Given the description of an element on the screen output the (x, y) to click on. 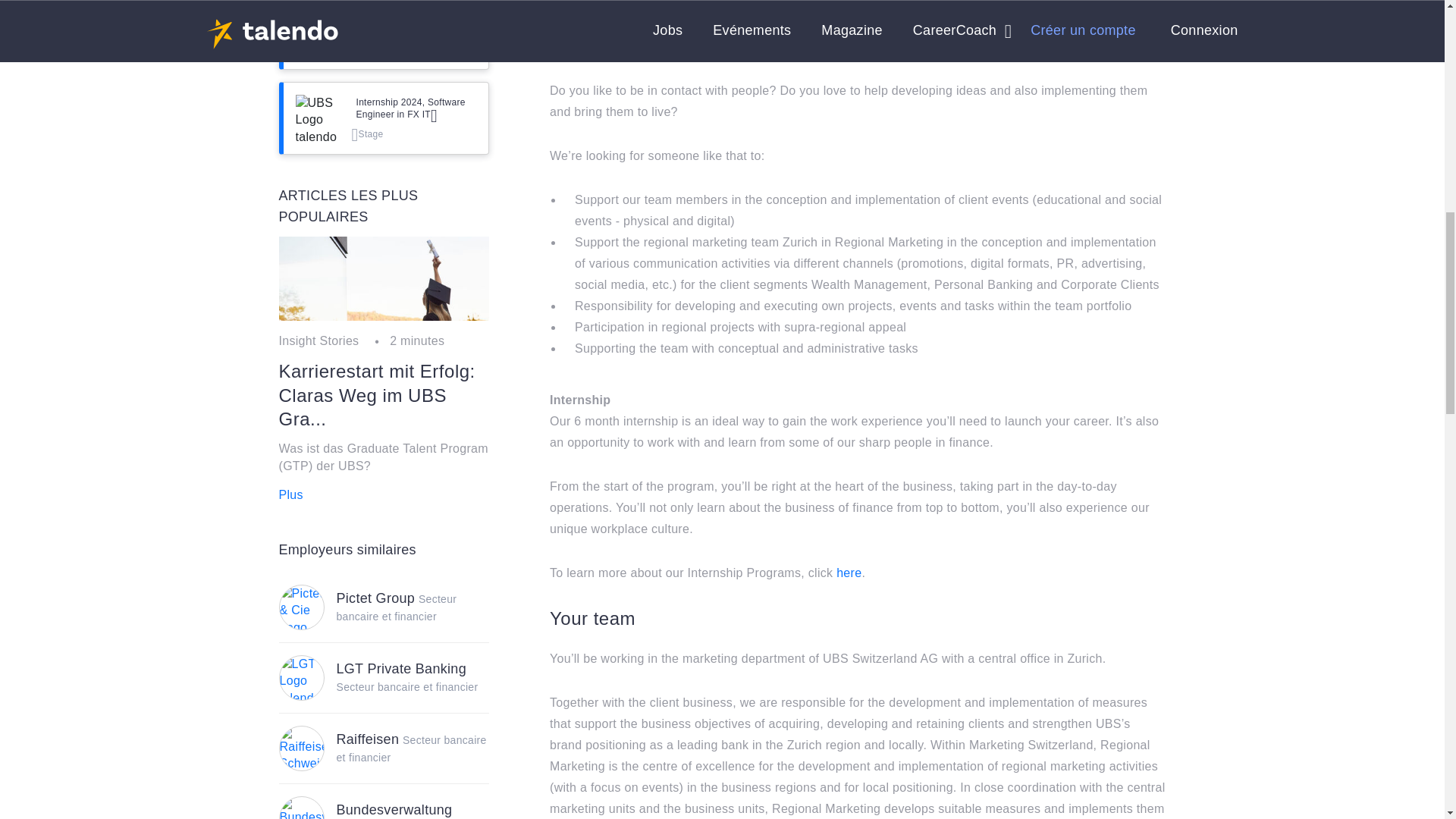
UBS Logo talendo (318, 32)
LGT Logo talendo (301, 678)
Internship 2024, Software Engineer in FX M... (416, 23)
Bundesverwaltung Logo talendo (301, 807)
UBS Logo talendo (318, 118)
Internship 2024, Software Engineer in FX IT (416, 108)
Raiffeisen Schweiz Logo talendo (301, 748)
